Given the description of an element on the screen output the (x, y) to click on. 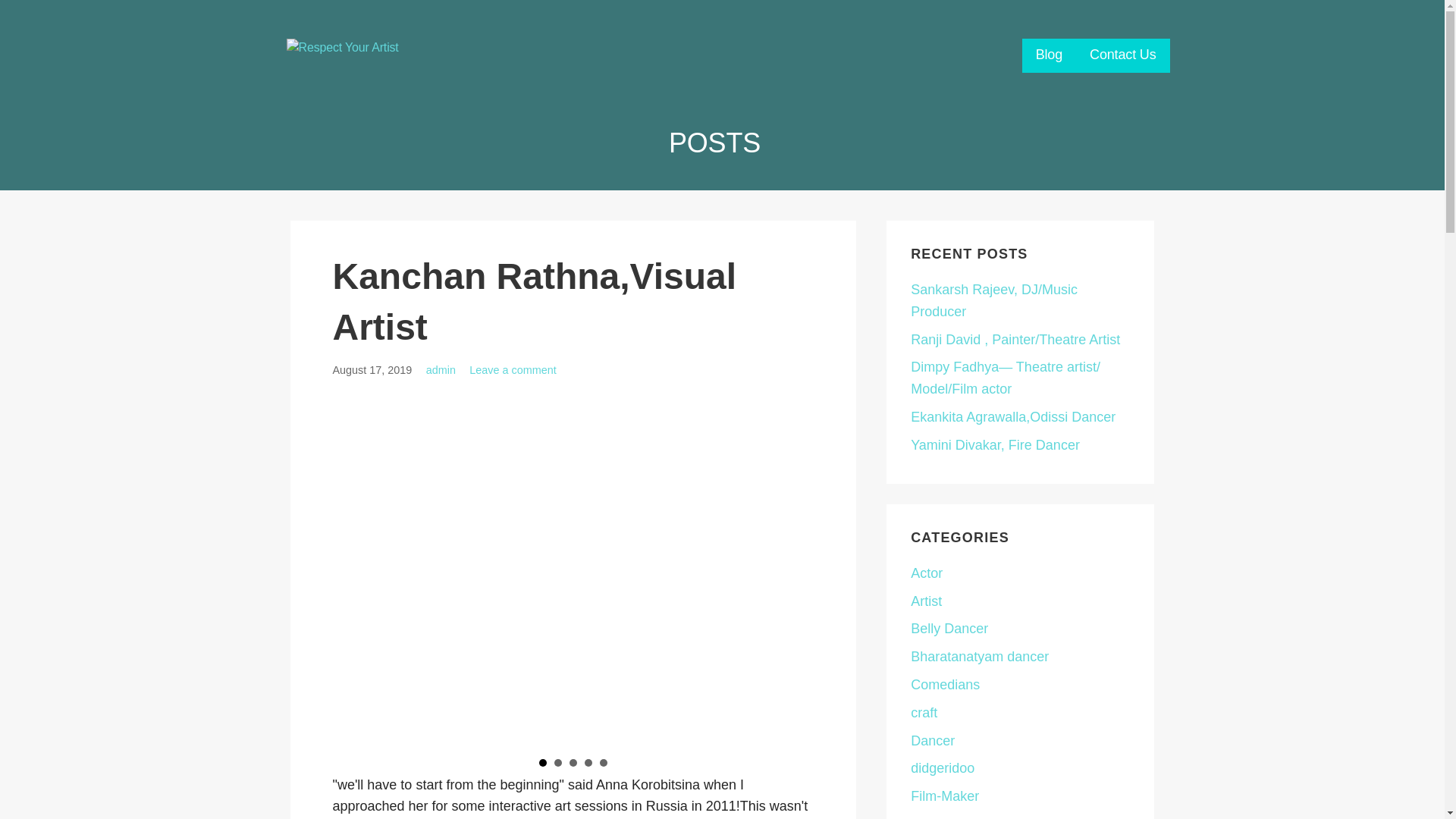
Bharatanatyam dancer (979, 656)
Contact Us (1122, 55)
Yamini Divakar, Fire Dancer (995, 444)
didgeridoo (942, 767)
Fire Dancer (946, 817)
3 (572, 762)
Film-Maker (944, 795)
Comedians (945, 684)
2 (558, 762)
1 (542, 762)
Posts by admin (440, 369)
Actor (926, 572)
Respect Your Artist (383, 84)
Artist (926, 601)
5 (603, 762)
